Given the description of an element on the screen output the (x, y) to click on. 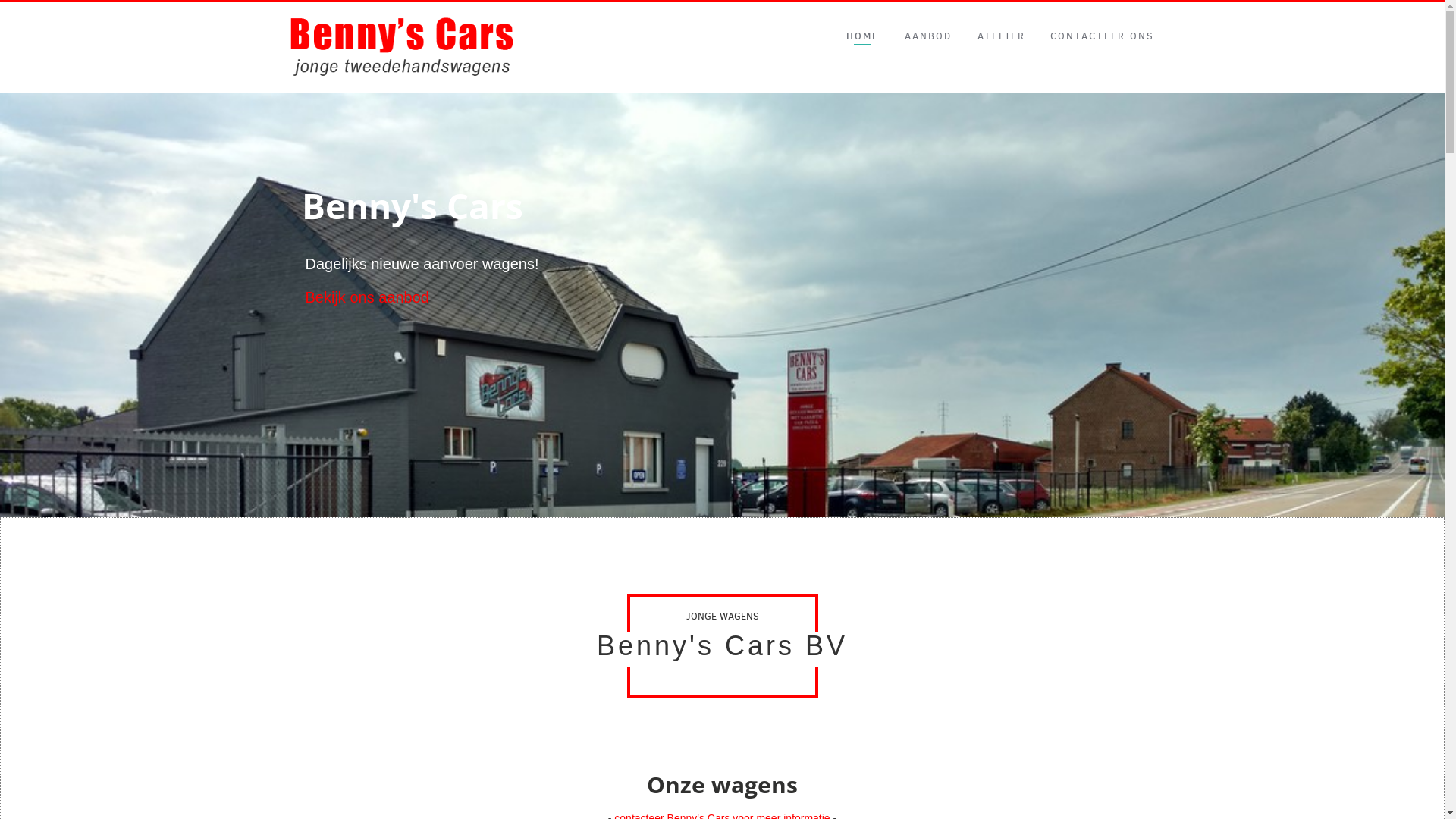
CONTACTEER ONS Element type: text (1102, 35)
HOME Element type: text (862, 35)
ATELIER Element type: text (1001, 35)
Bekijk ons aanbod Element type: text (366, 296)
AANBOD Element type: text (927, 35)
